Given the description of an element on the screen output the (x, y) to click on. 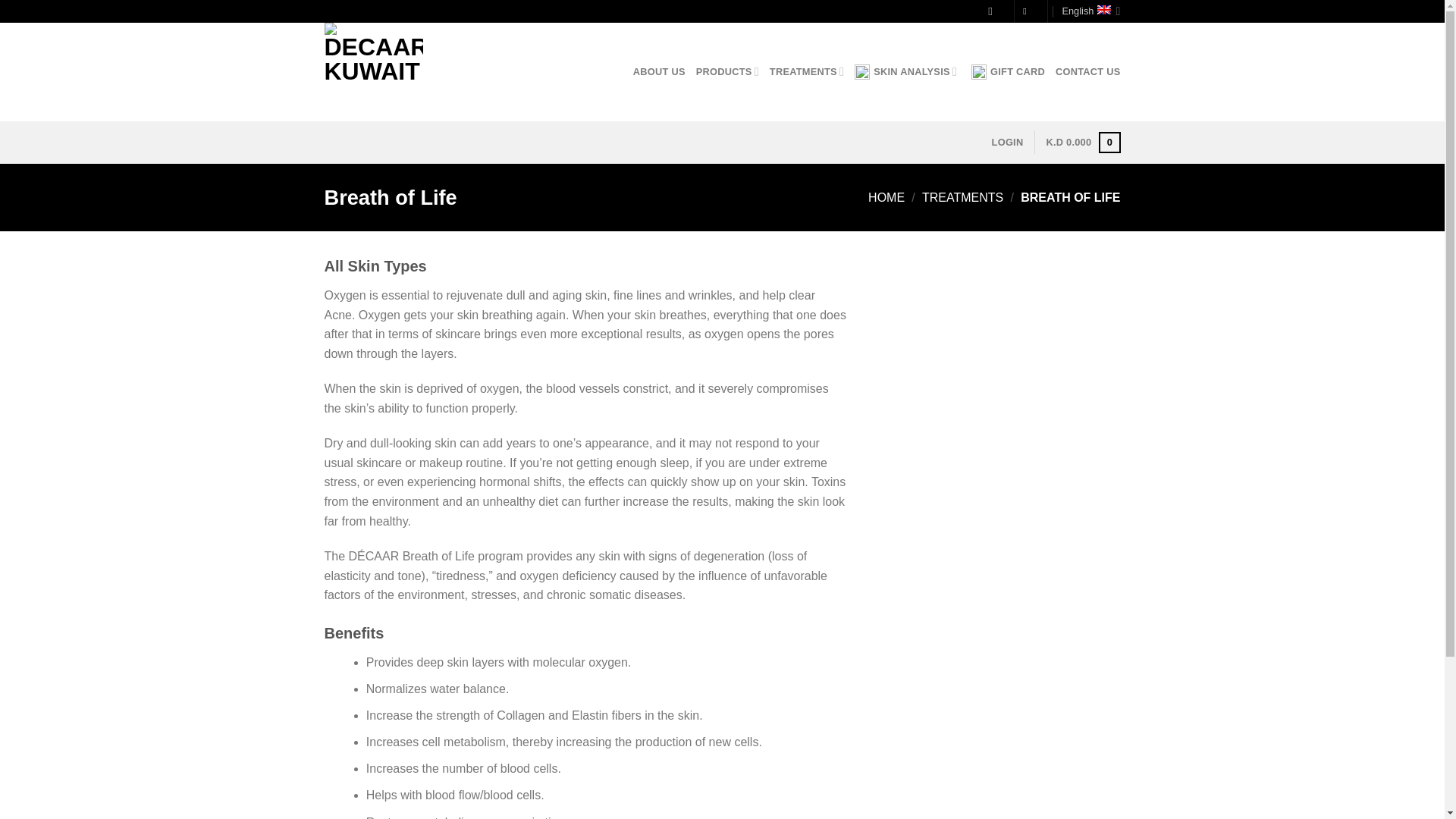
DECAAR KUWAIT - Professional Skincare (400, 71)
English (1090, 11)
PRODUCTS (726, 71)
Login (1007, 142)
ABOUT US (659, 71)
Cart (1082, 142)
